Given the description of an element on the screen output the (x, y) to click on. 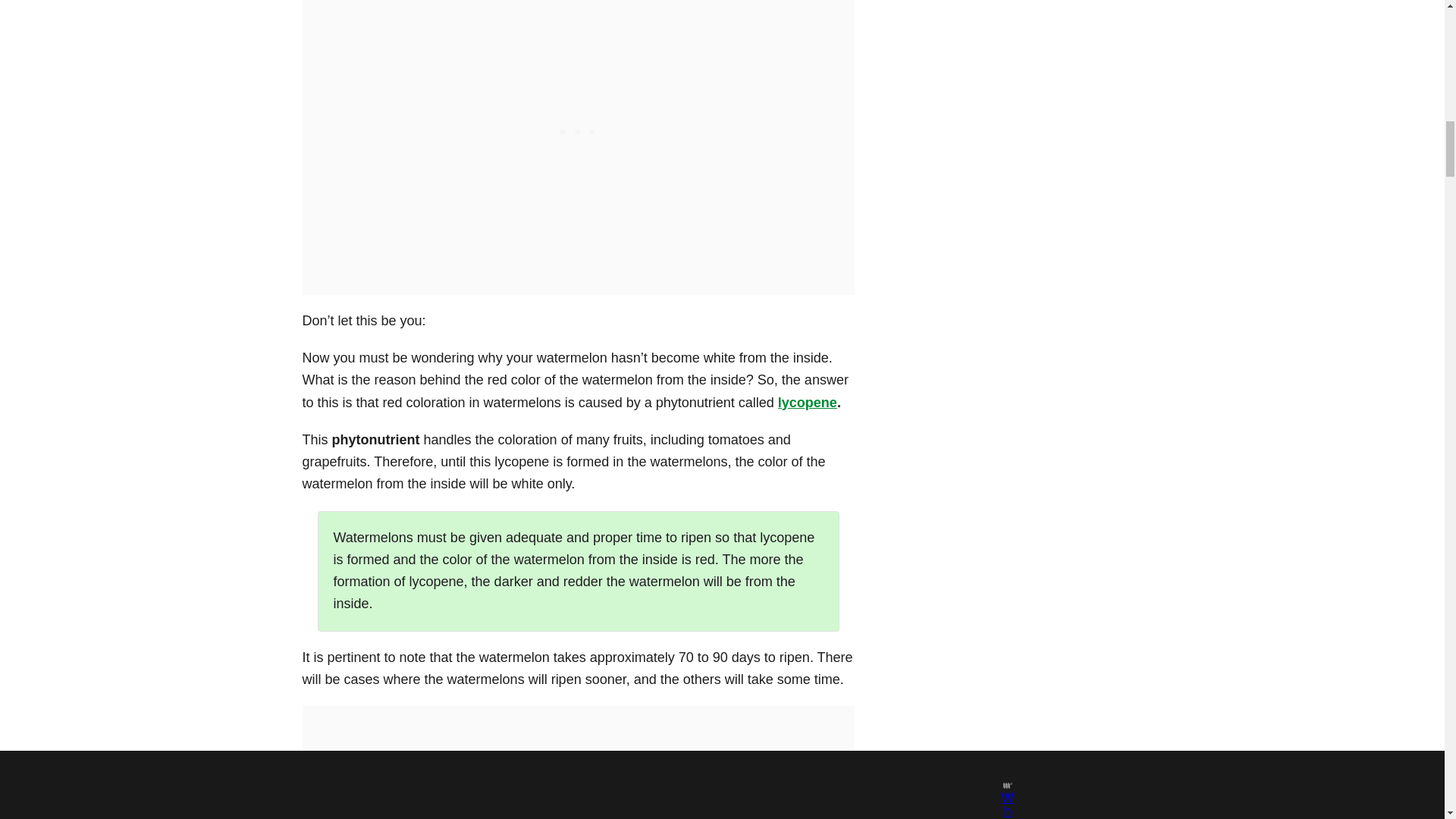
lycopene (807, 402)
